Given the description of an element on the screen output the (x, y) to click on. 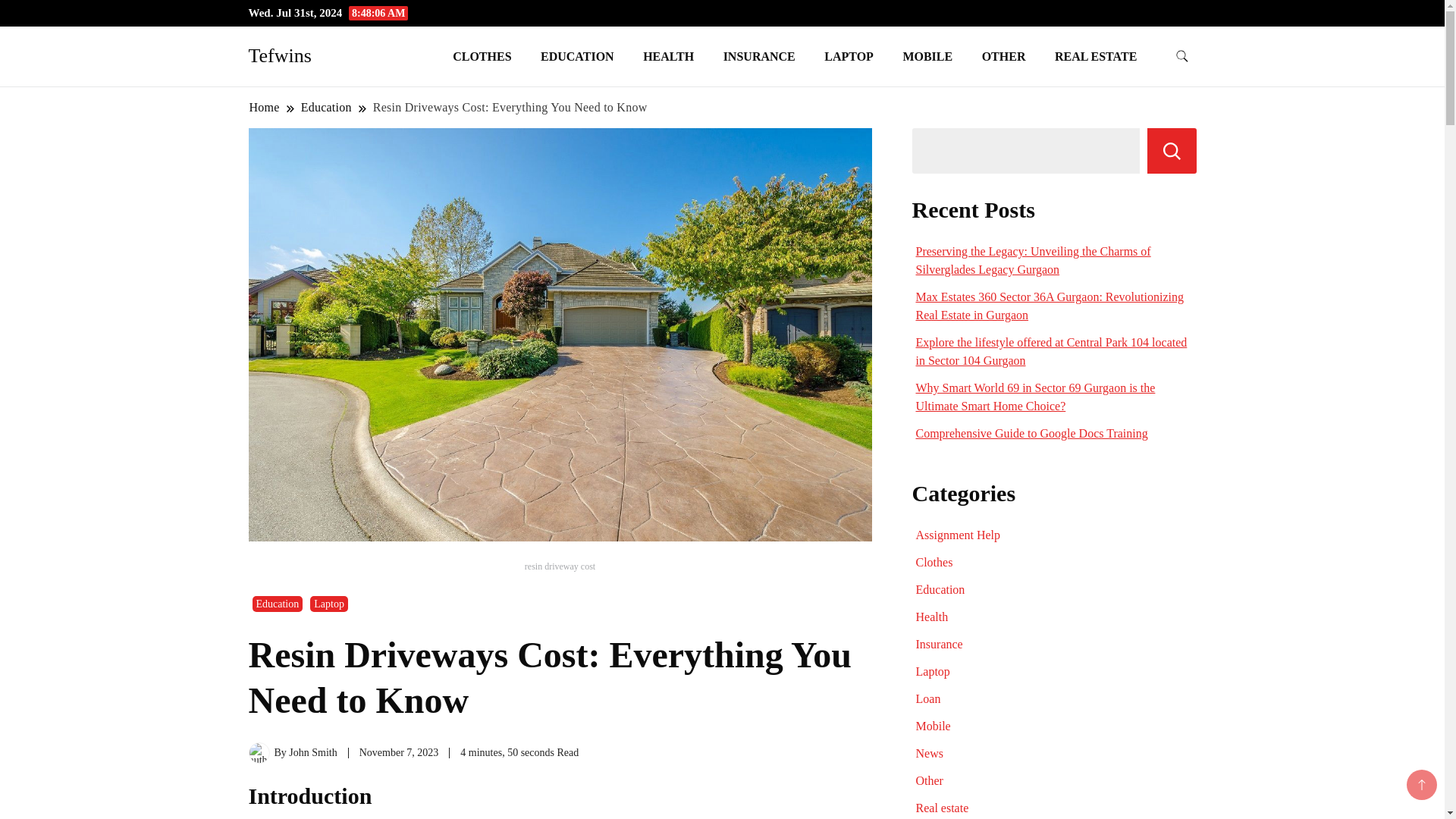
Resin Driveways Cost: Everything You Need to Know (509, 106)
November 7, 2023 (399, 752)
Tefwins (279, 55)
CLOTHES (481, 56)
John Smith (312, 752)
OTHER (1004, 56)
LAPTOP (848, 56)
Laptop (328, 603)
INSURANCE (759, 56)
EDUCATION (577, 56)
Education (325, 106)
Education (276, 603)
HEALTH (668, 56)
MOBILE (927, 56)
Home (264, 106)
